Given the description of an element on the screen output the (x, y) to click on. 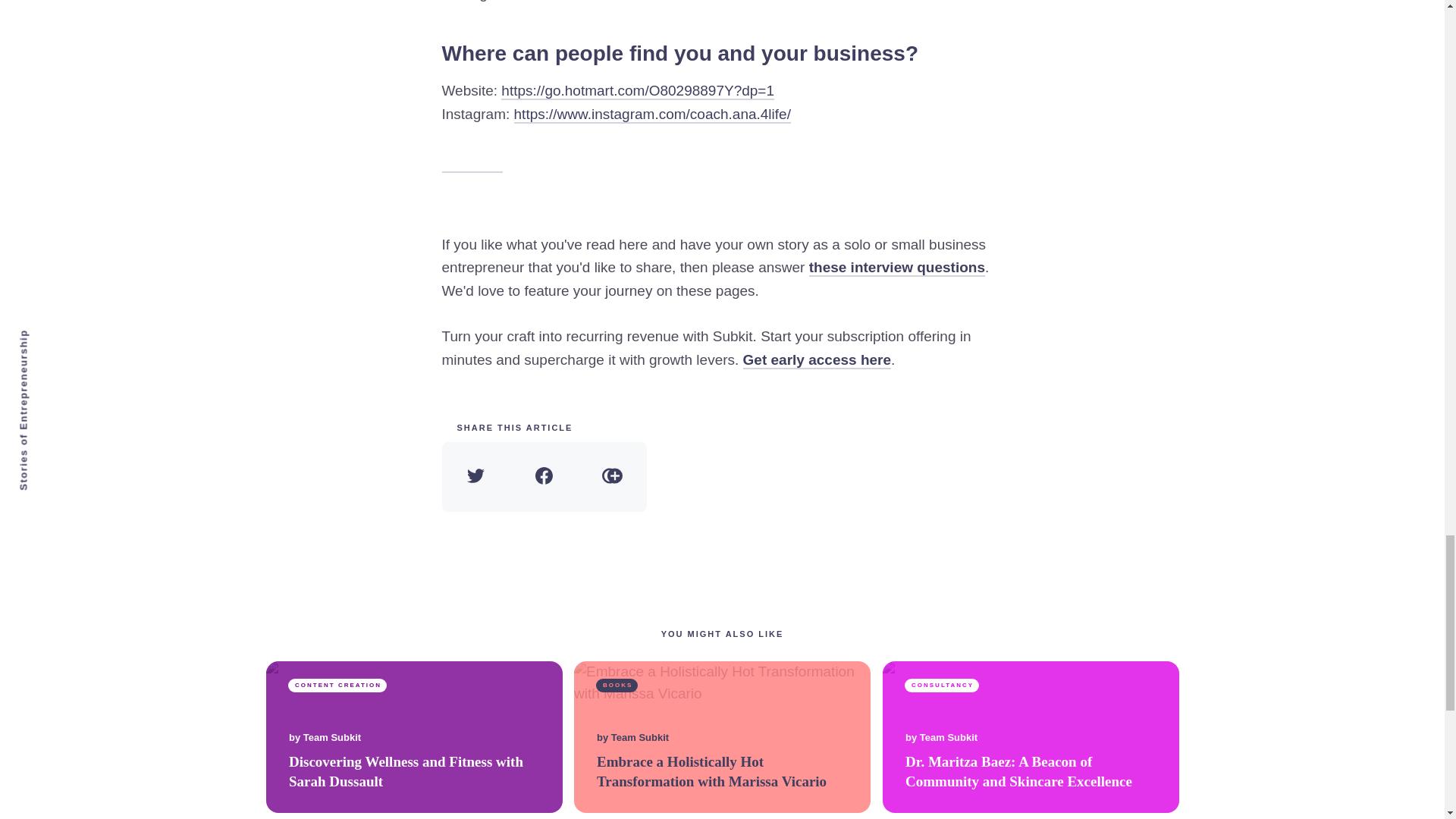
Team Subkit (948, 738)
Team Subkit (330, 738)
Team Subkit (639, 738)
Get early access here (816, 360)
these interview questions (897, 267)
